Given the description of an element on the screen output the (x, y) to click on. 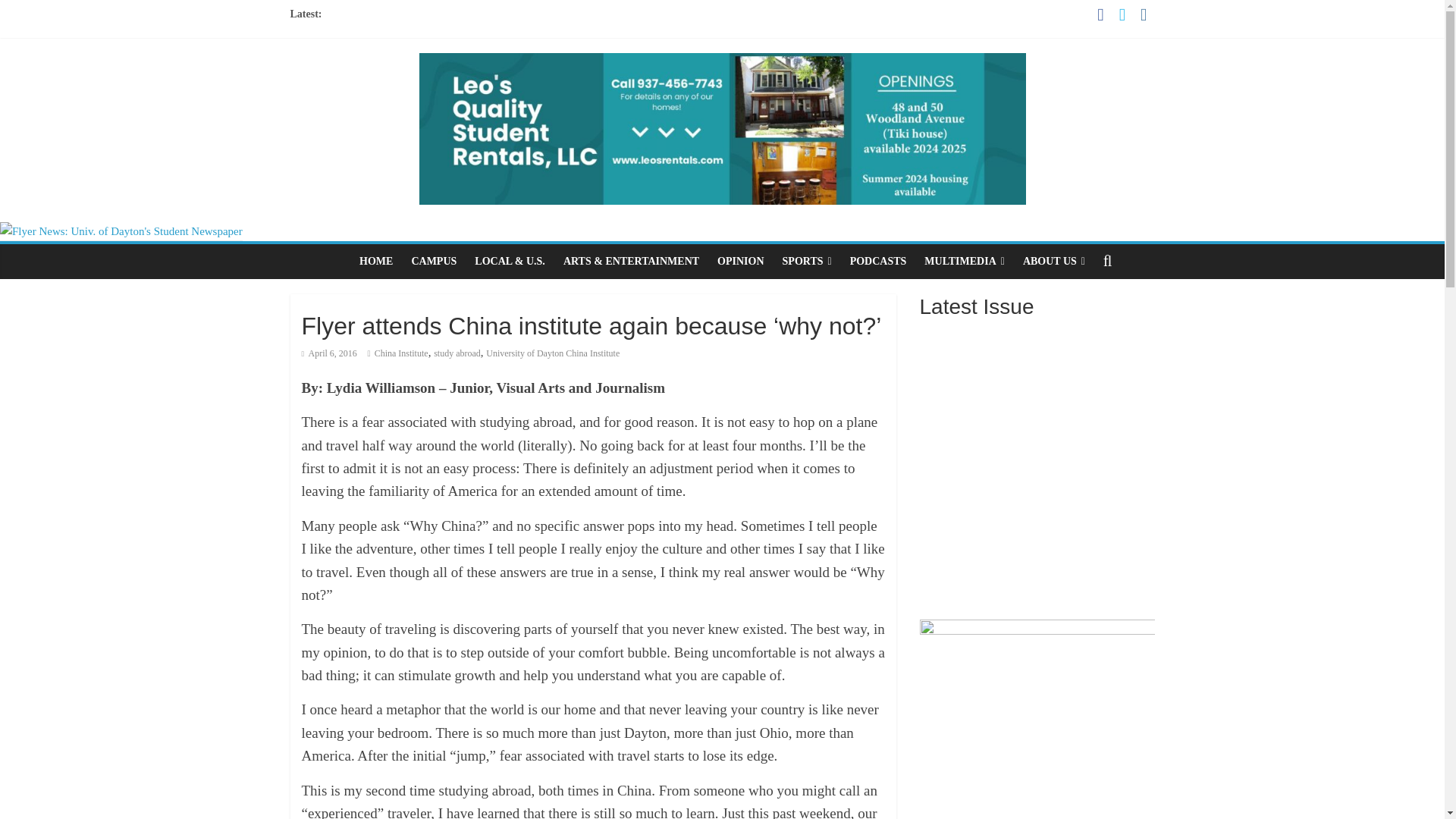
MULTIMEDIA (964, 261)
ABOUT US (1053, 261)
HOME (375, 261)
study abroad (456, 353)
University of Dayton China Institute (553, 353)
CAMPUS (433, 261)
April 6, 2016 (328, 353)
OPINION (740, 261)
SPORTS (807, 261)
PODCASTS (878, 261)
